Given the description of an element on the screen output the (x, y) to click on. 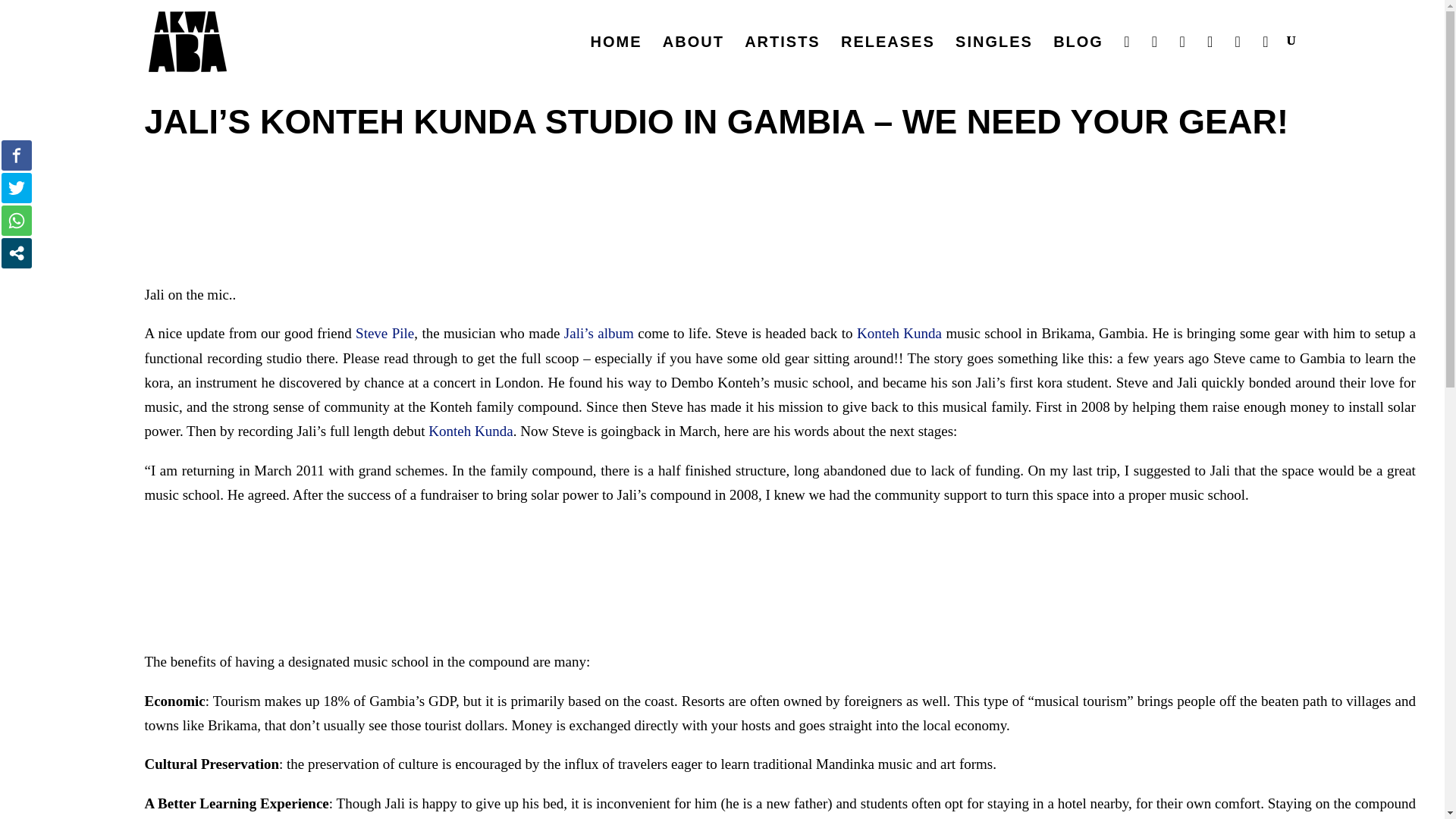
P2190097 (780, 578)
SINGLES (993, 58)
Konteh Kunda (899, 333)
Share on Facebook (16, 155)
ABOUT (692, 58)
ARTISTS (782, 58)
Steve Pile (384, 333)
Tweet (16, 187)
Open modal social networks (16, 253)
HOME (615, 58)
BLOG (1077, 58)
Share on WhatsApp (16, 220)
Konteh Kunda (470, 430)
RELEASES (887, 58)
